Given the description of an element on the screen output the (x, y) to click on. 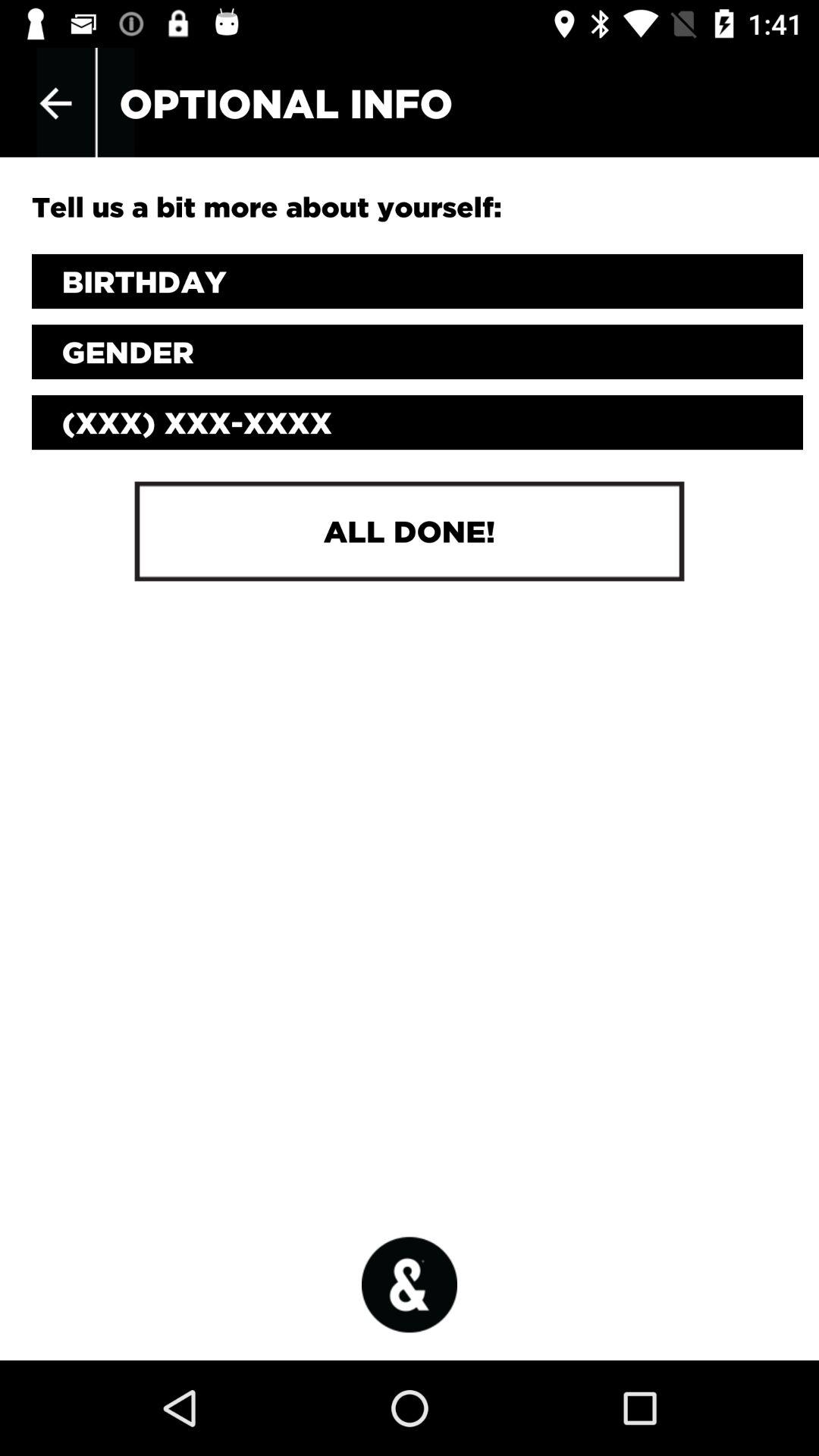
go to gender option (417, 351)
